Given the description of an element on the screen output the (x, y) to click on. 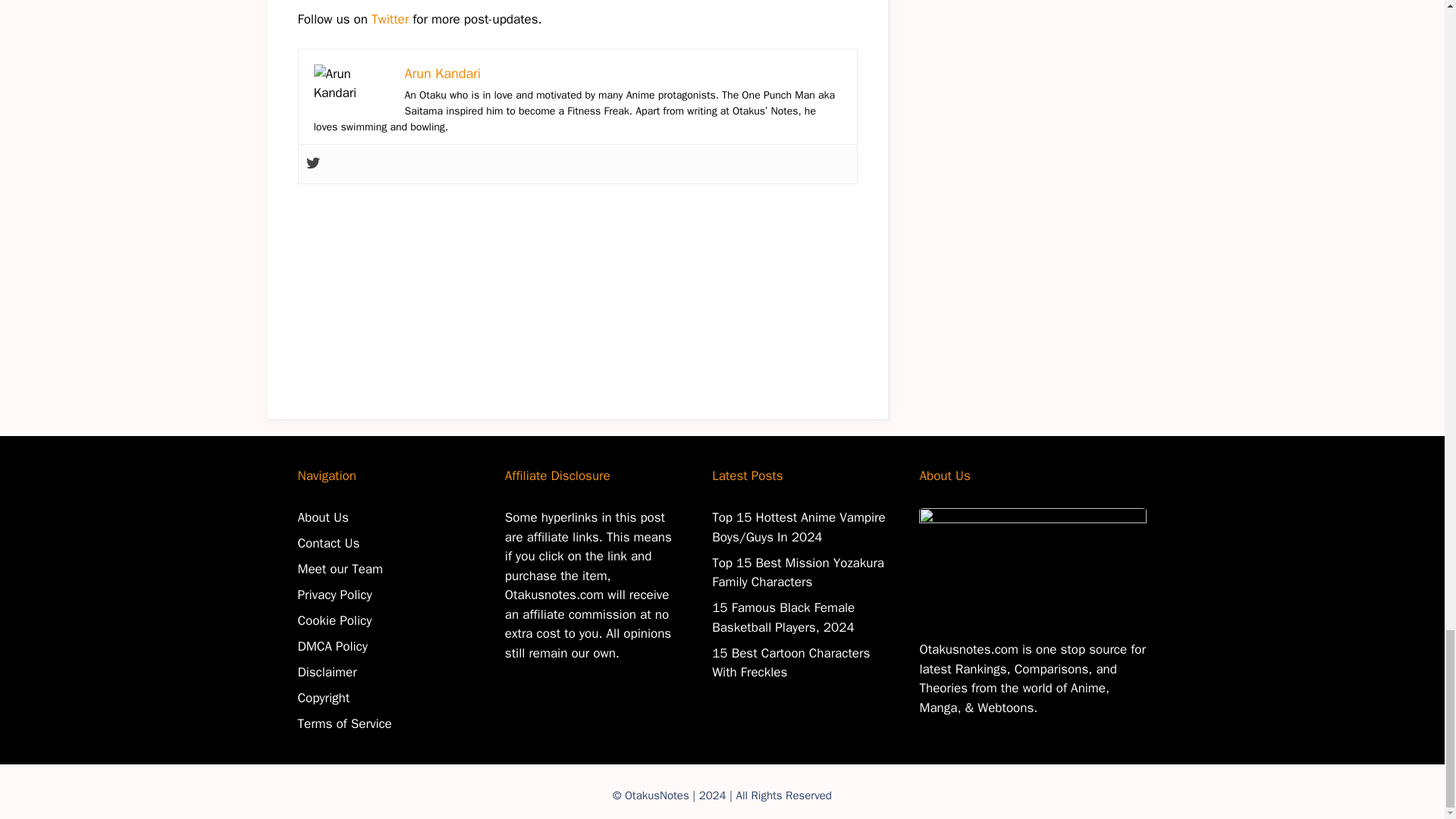
Contact Us (328, 543)
Arun Kandari (442, 73)
Terms of Service (344, 723)
DMCA Policy (331, 646)
Disclaimer (326, 672)
Meet our Team (339, 569)
About Us (322, 517)
Cookie Policy (334, 620)
Twitter (390, 19)
Privacy Policy (334, 594)
